Given the description of an element on the screen output the (x, y) to click on. 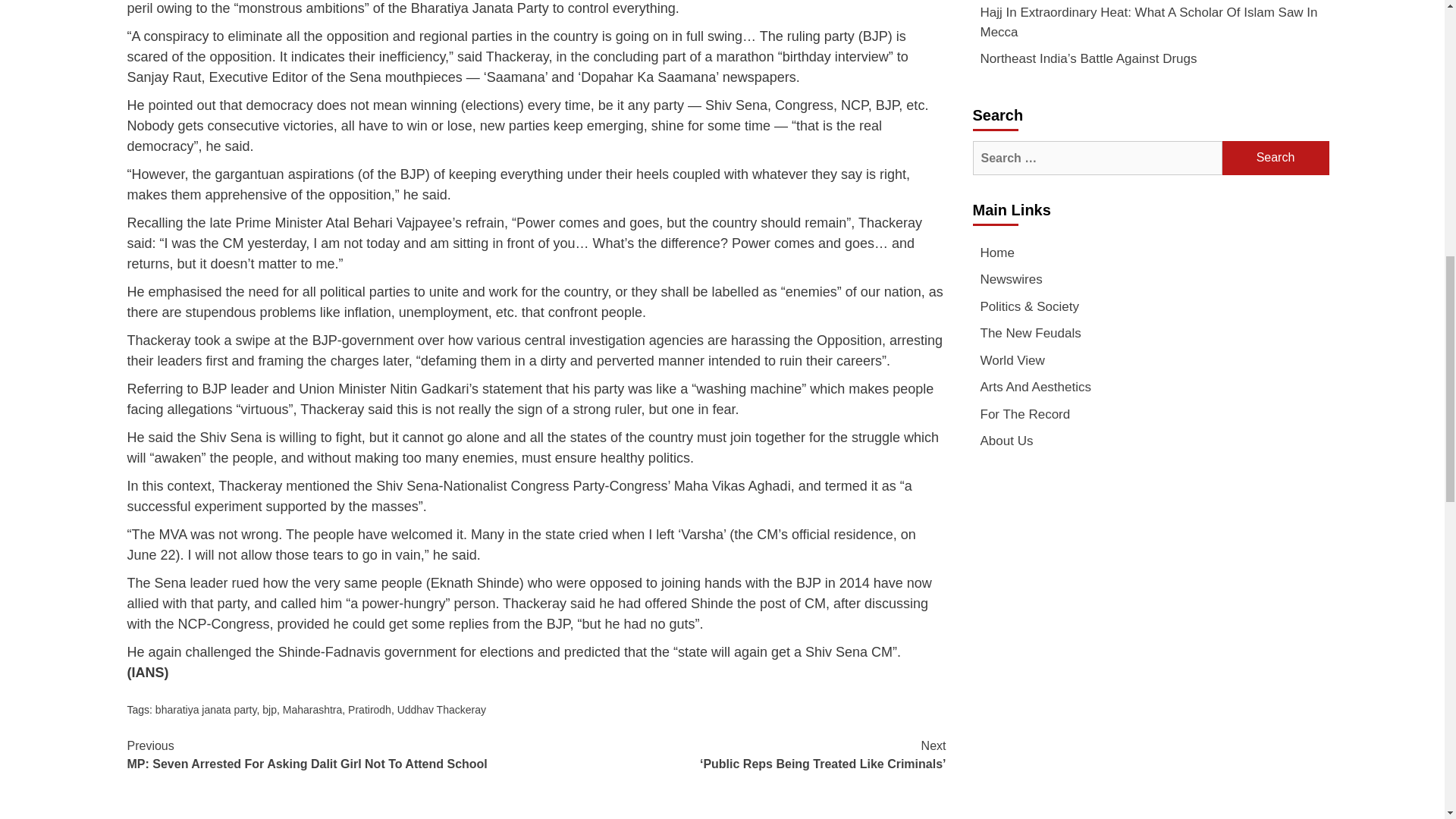
Search (1276, 157)
Search (1276, 157)
Maharashtra (312, 709)
Pratirodh (369, 709)
bharatiya janata party (206, 709)
bjp (269, 709)
Uddhav Thackeray (441, 709)
